Given the description of an element on the screen output the (x, y) to click on. 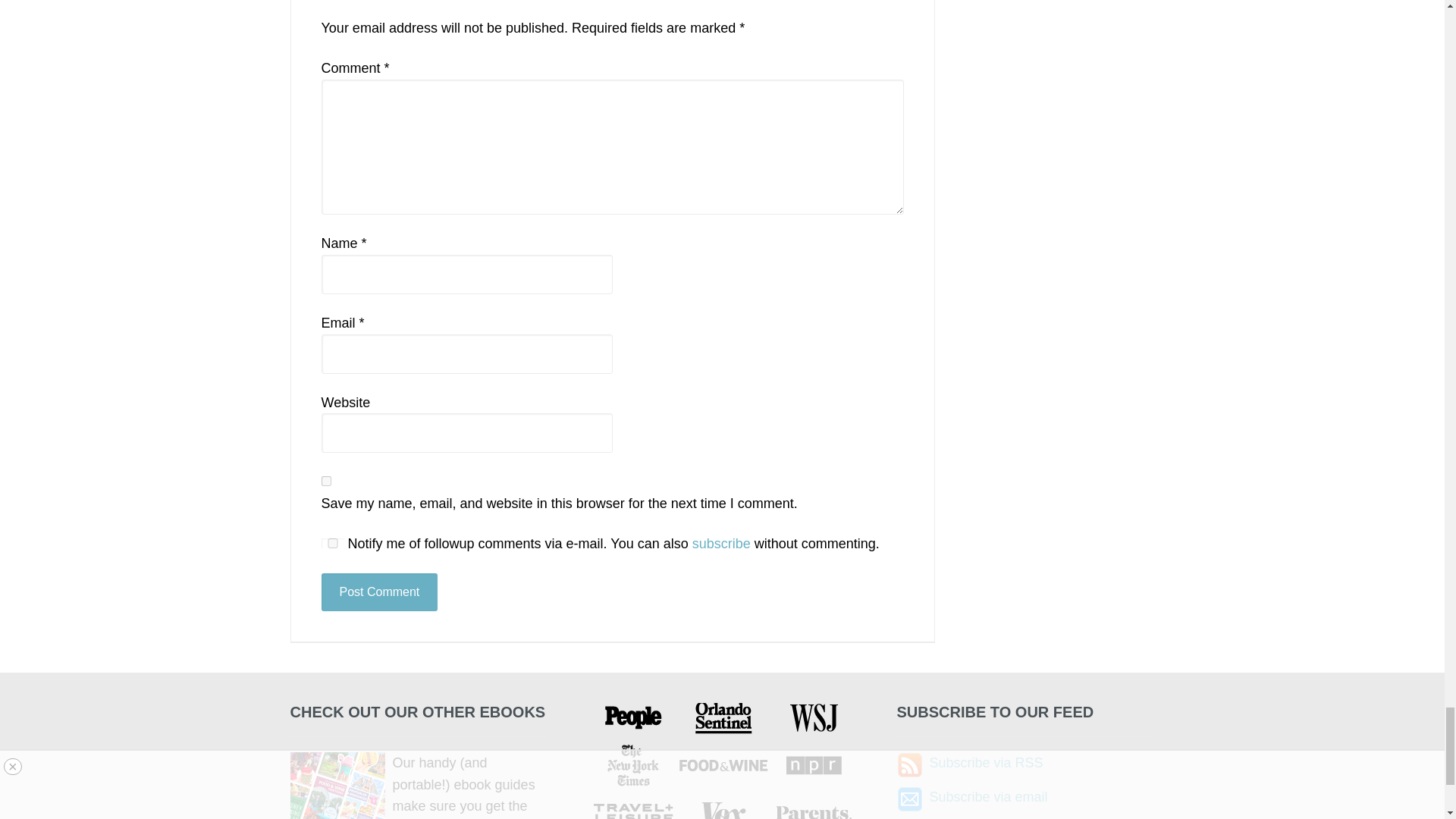
Post Comment (379, 591)
yes (326, 480)
yes (332, 542)
